Given the description of an element on the screen output the (x, y) to click on. 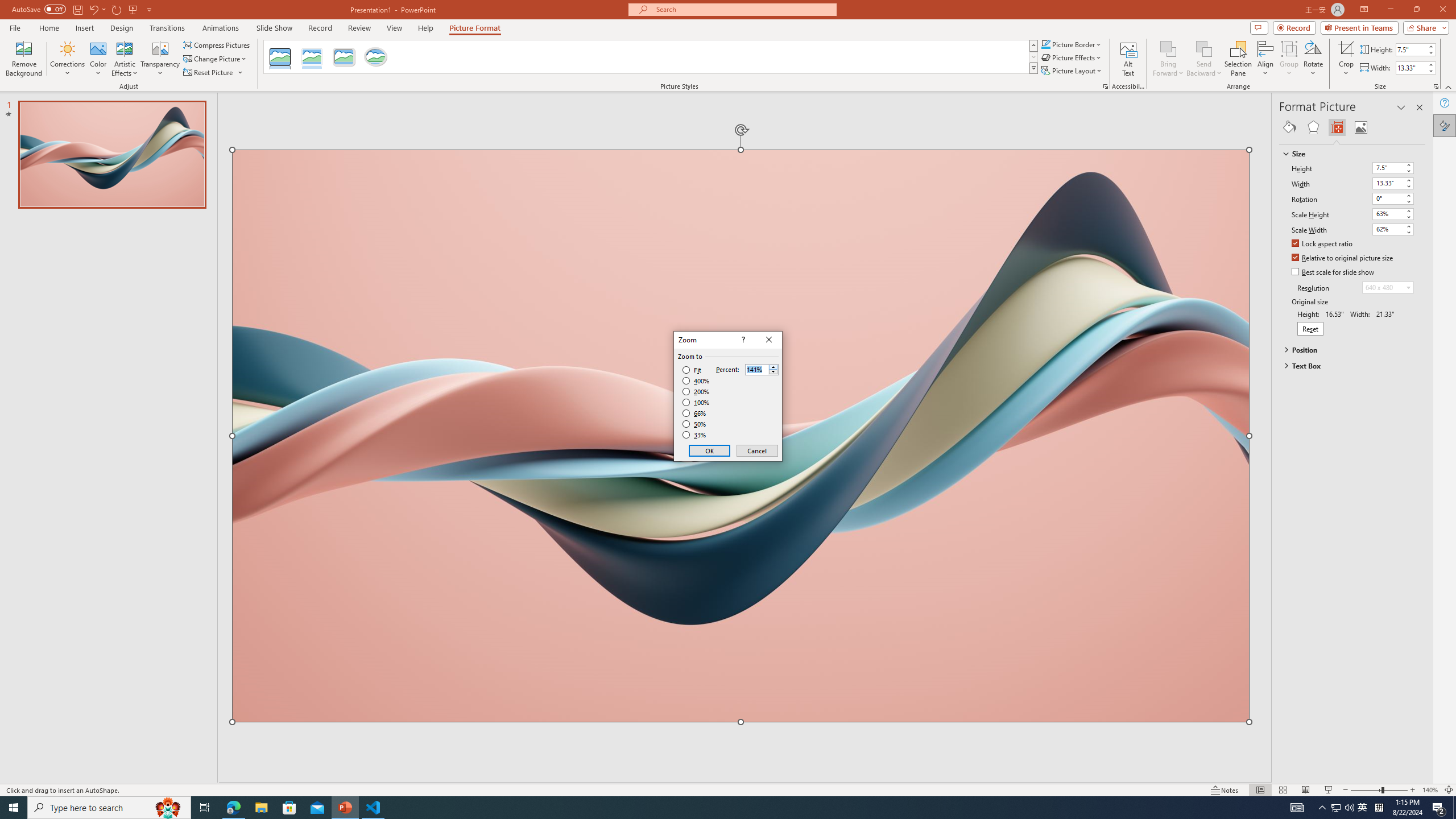
OK (709, 450)
Scale Height (1388, 213)
Reset Picture (214, 72)
Position (1347, 349)
400% (696, 380)
Percent (761, 369)
Fit (691, 370)
